Given the description of an element on the screen output the (x, y) to click on. 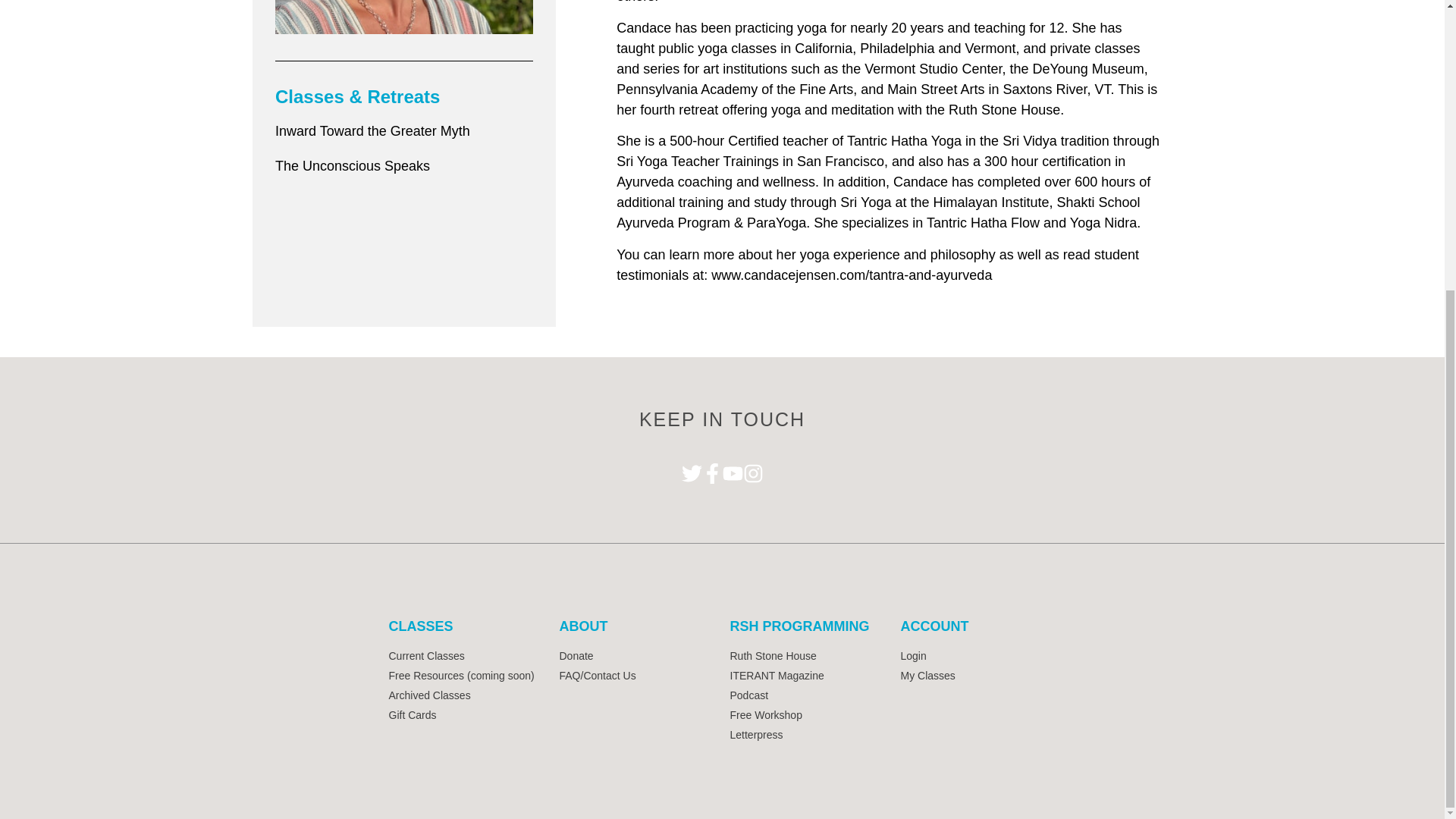
My Classes (979, 675)
Gift Cards (465, 715)
Login (979, 656)
Letterpress (807, 734)
The Unconscious Speaks (352, 165)
Inward Toward the Greater Myth (372, 130)
Free Workshop (807, 715)
Donate (636, 656)
Ruth Stone House (807, 656)
Current Classes (465, 656)
Podcast (807, 695)
ITERANT Magazine (807, 675)
Archived Classes (465, 695)
